Given the description of an element on the screen output the (x, y) to click on. 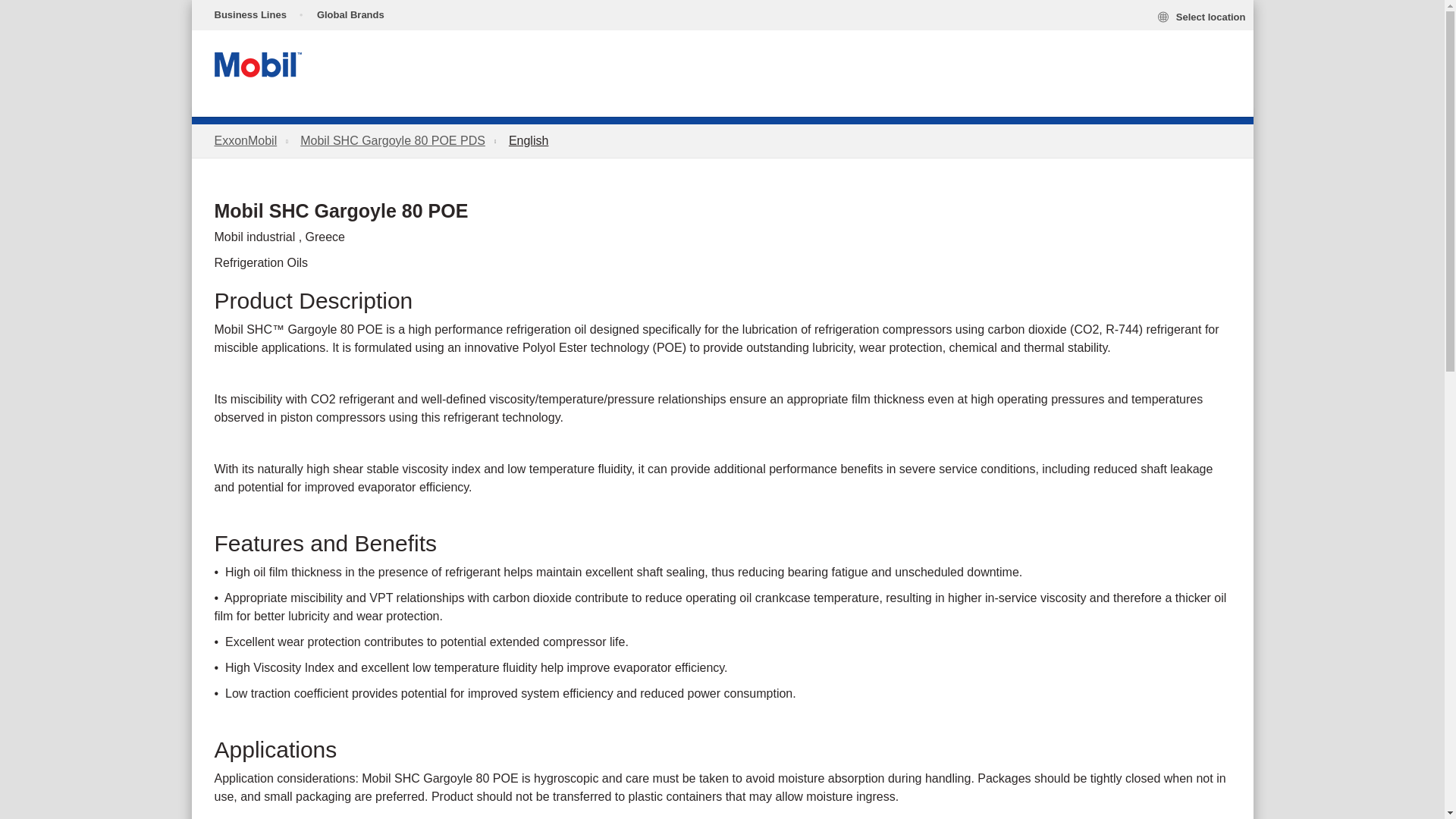
Business Lines (245, 15)
English (528, 140)
Mobil SHC Gargoyle 80 POE PDS (391, 140)
ExxonMobil (245, 140)
Select location (1201, 15)
ExxonMobil (245, 140)
Mobil SHC Gargoyle 80 POE PDS (391, 140)
Global Brands (349, 15)
